Given the description of an element on the screen output the (x, y) to click on. 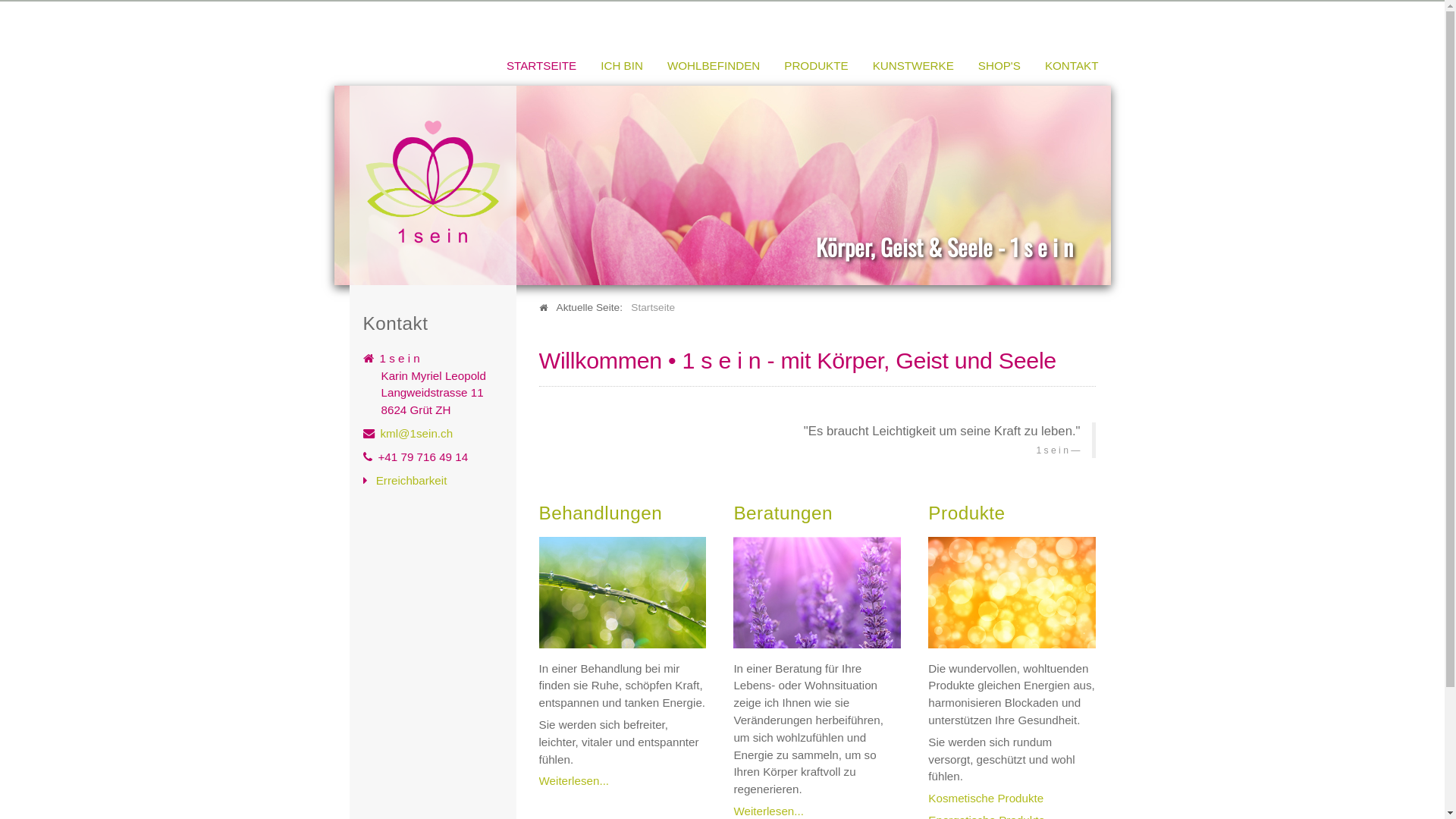
kml@1sein.ch Element type: text (416, 432)
STARTSEITE Element type: text (541, 66)
Erreichbarkeit Element type: text (410, 479)
KONTAKT Element type: text (1071, 66)
ICH BIN Element type: text (621, 66)
Weiterlesen... Element type: text (573, 780)
Weiterlesen... Element type: text (768, 810)
Kosmetische Produkte Element type: text (985, 797)
